Given the description of an element on the screen output the (x, y) to click on. 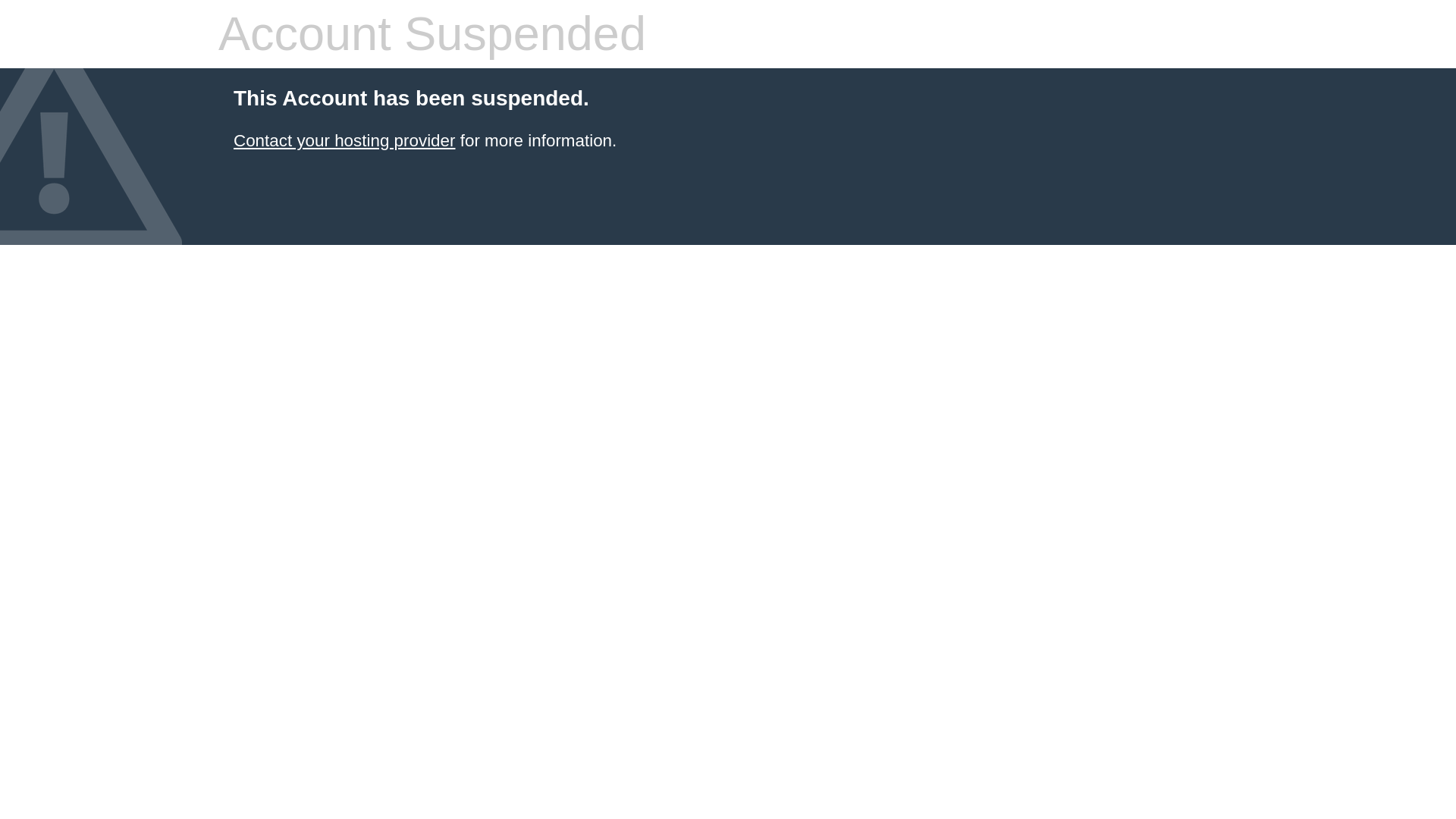
Contact your hosting provider (343, 140)
